Given the description of an element on the screen output the (x, y) to click on. 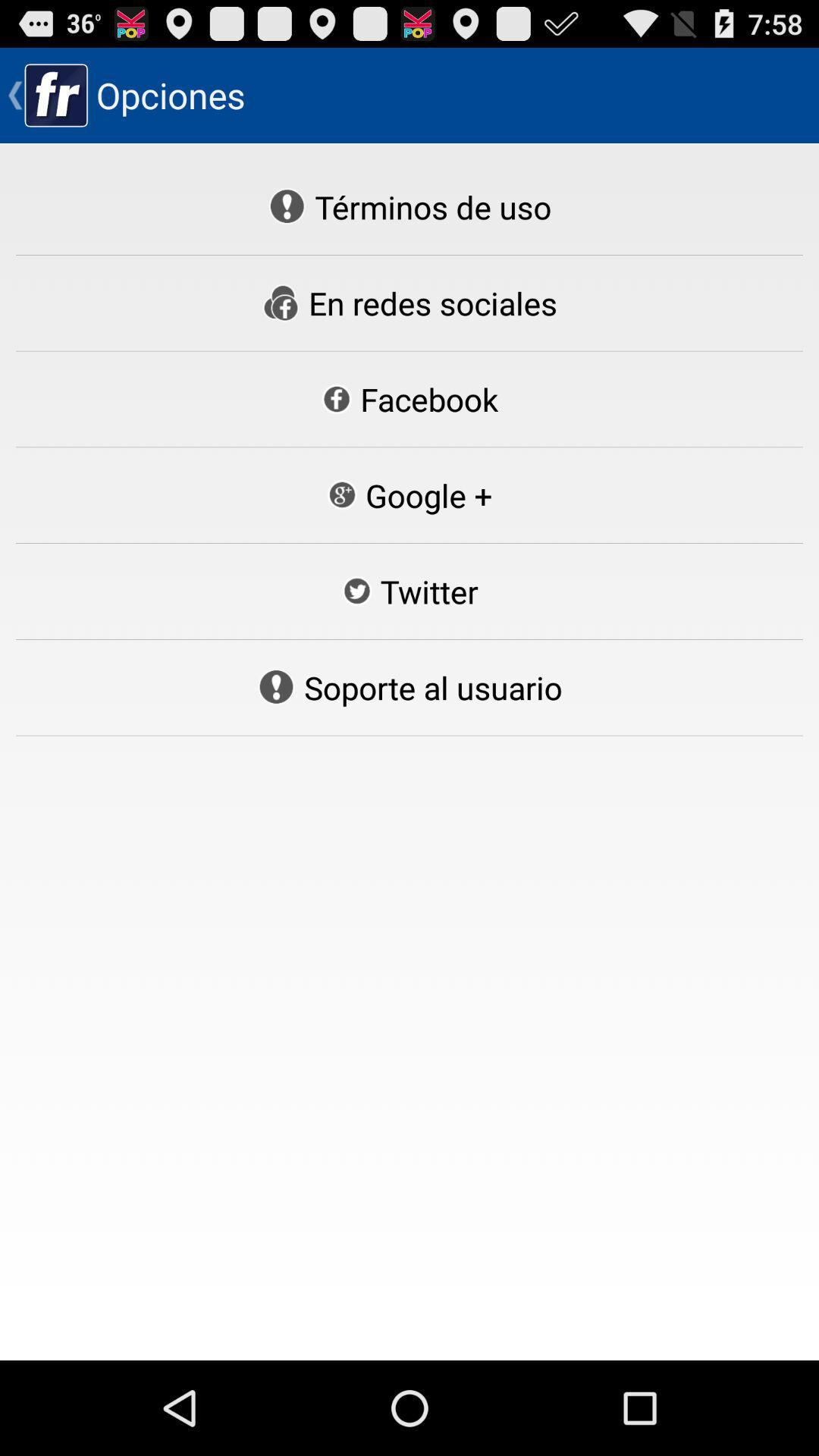
choose the google + icon (408, 495)
